Given the description of an element on the screen output the (x, y) to click on. 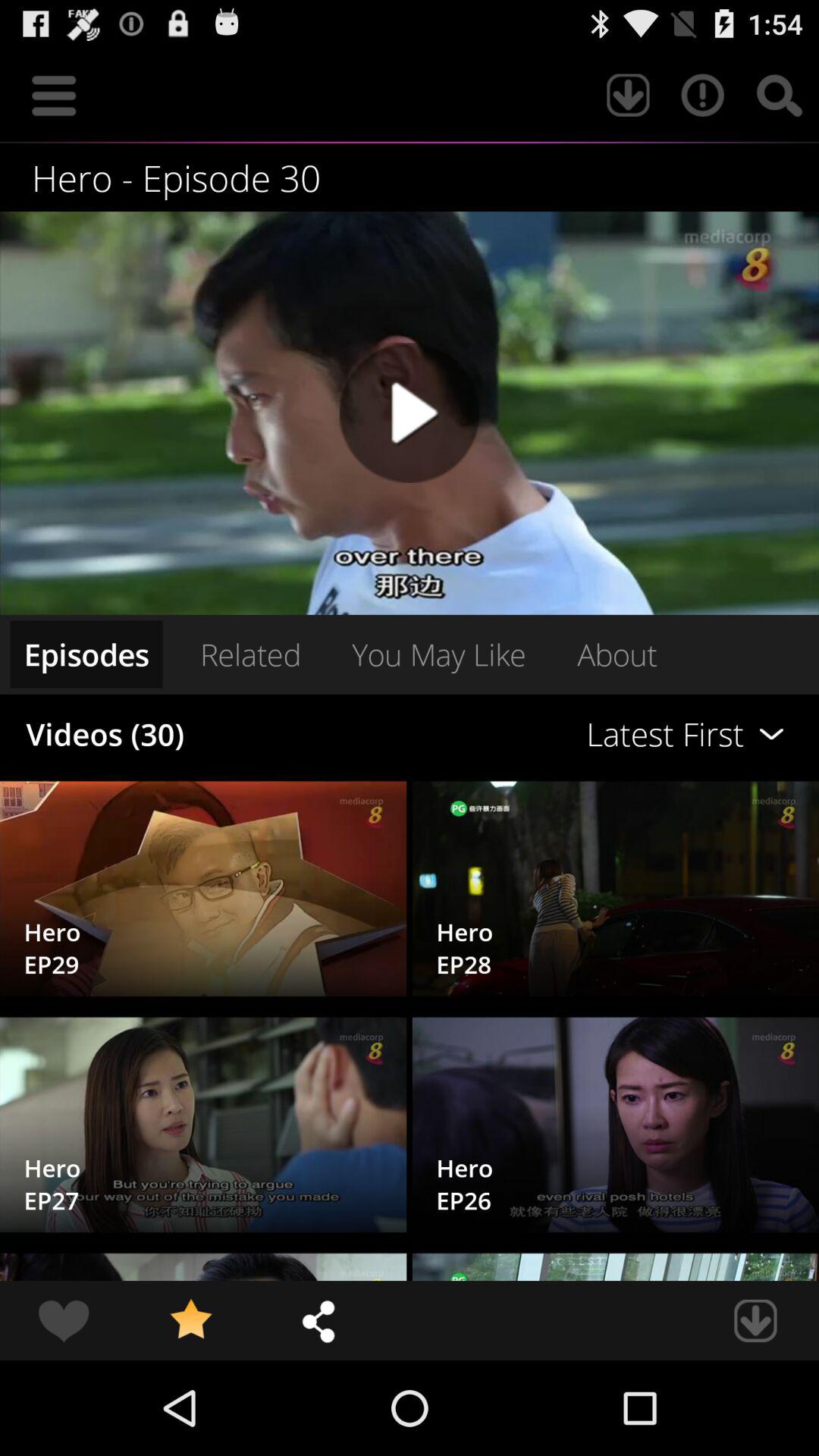
flip until the latest first item (560, 734)
